Given the description of an element on the screen output the (x, y) to click on. 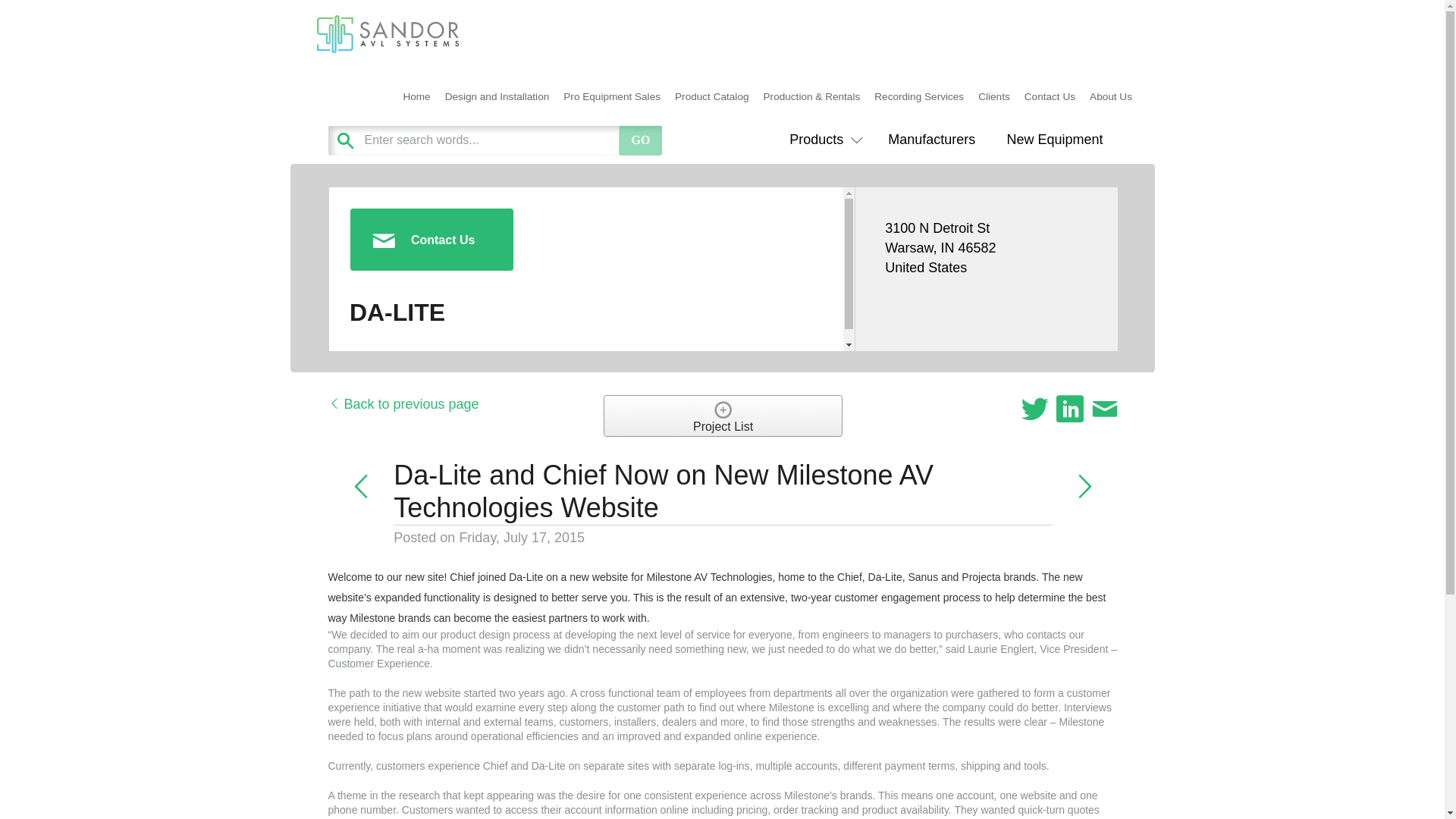
Pro Equipment Sales (612, 96)
Contact Us (1048, 96)
SANDOR AVL SYSTEMS (411, 77)
Go (640, 140)
Enter search words... (531, 140)
Go (640, 140)
About Us (1111, 96)
Recording Services (919, 96)
Product Catalog (712, 96)
Design and Installation (497, 96)
